Given the description of an element on the screen output the (x, y) to click on. 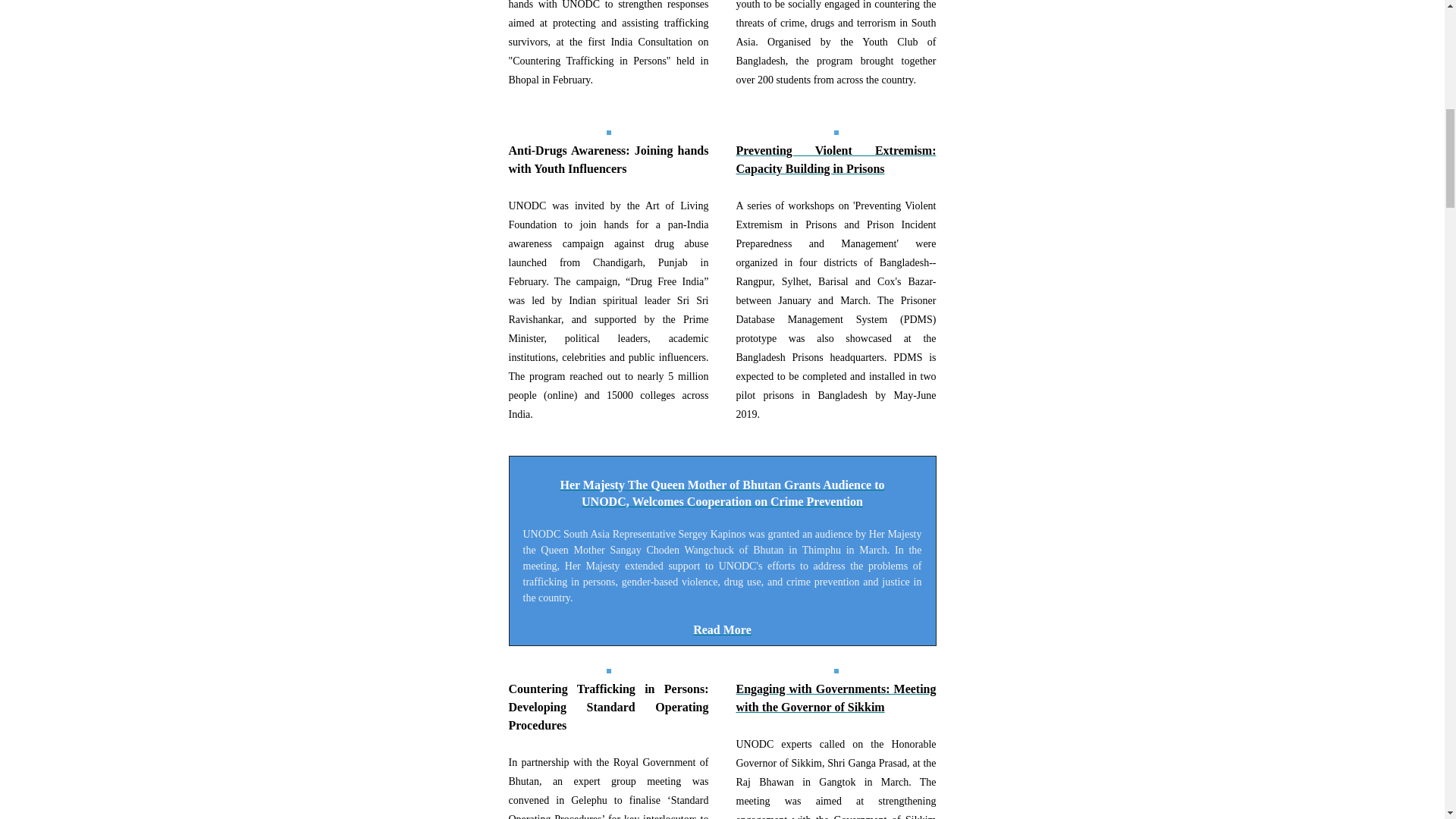
Preventing Violent Extremism: Capacity Building in Prisons (835, 159)
Read More (722, 630)
